Given the description of an element on the screen output the (x, y) to click on. 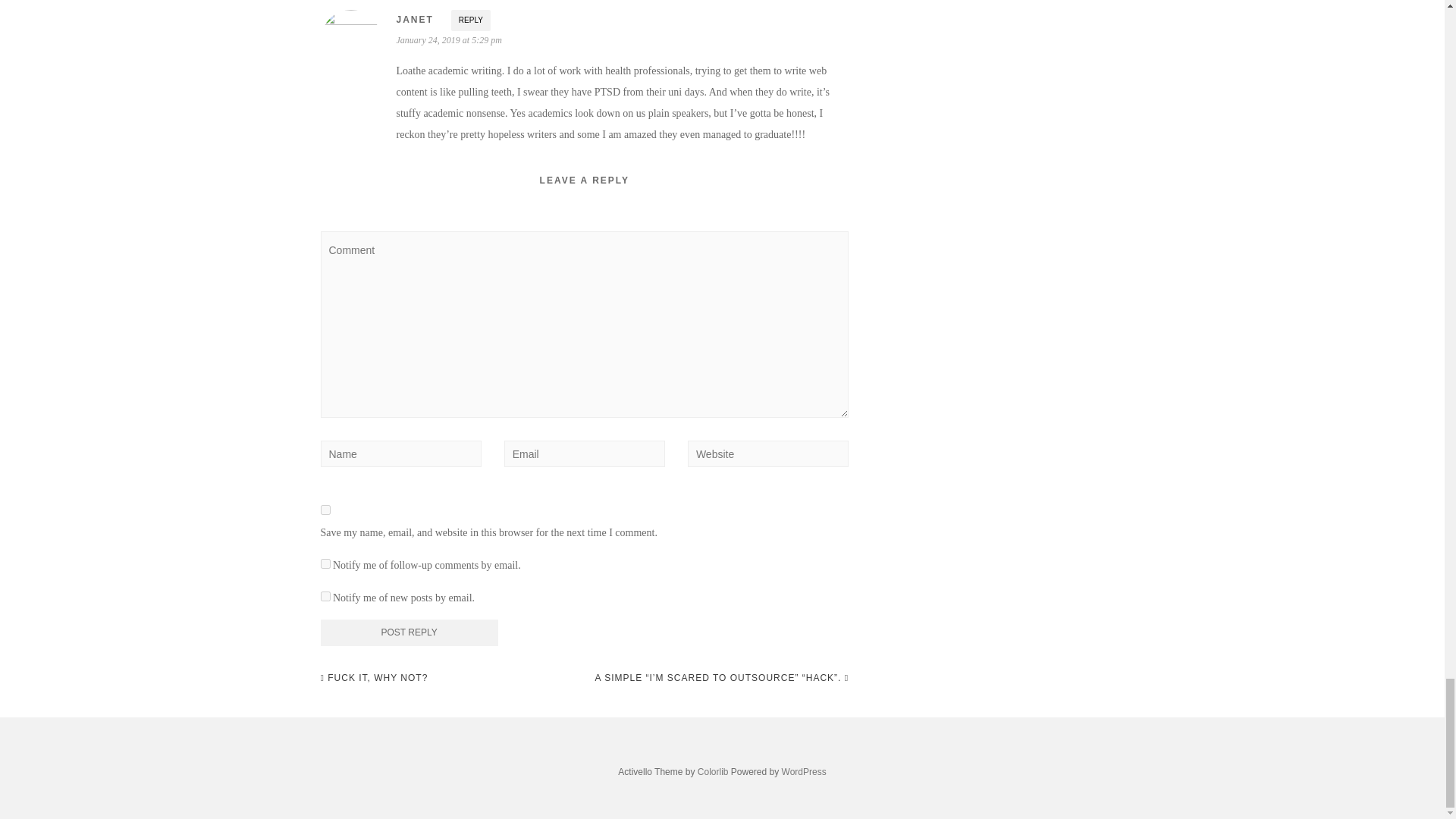
Post Reply (408, 632)
subscribe (325, 596)
subscribe (325, 563)
yes (325, 510)
